Given the description of an element on the screen output the (x, y) to click on. 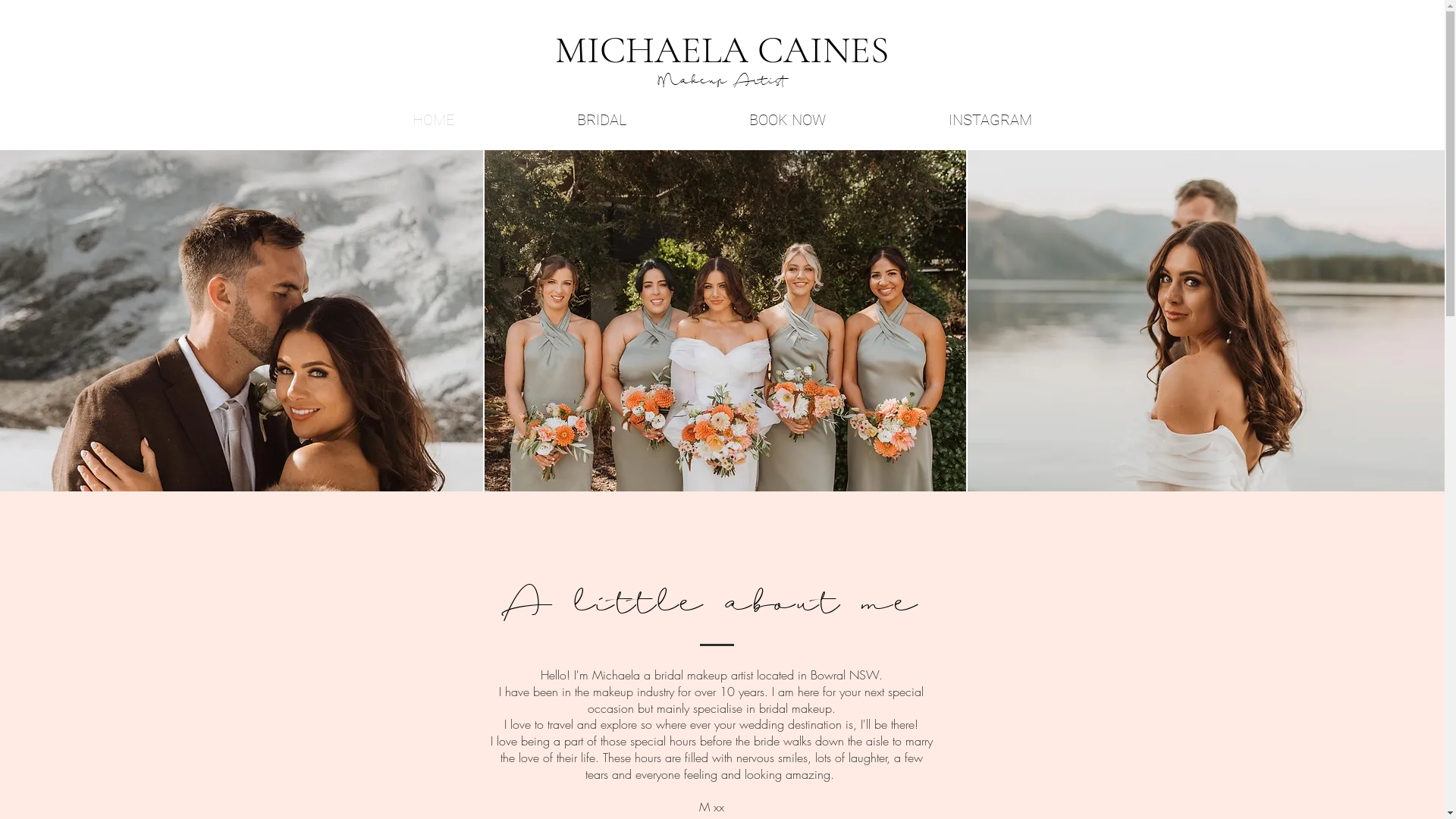
BRIDAL Element type: text (601, 120)
HOME Element type: text (432, 120)
INSTAGRAM Element type: text (990, 120)
BOOK NOW Element type: text (786, 120)
